Given the description of an element on the screen output the (x, y) to click on. 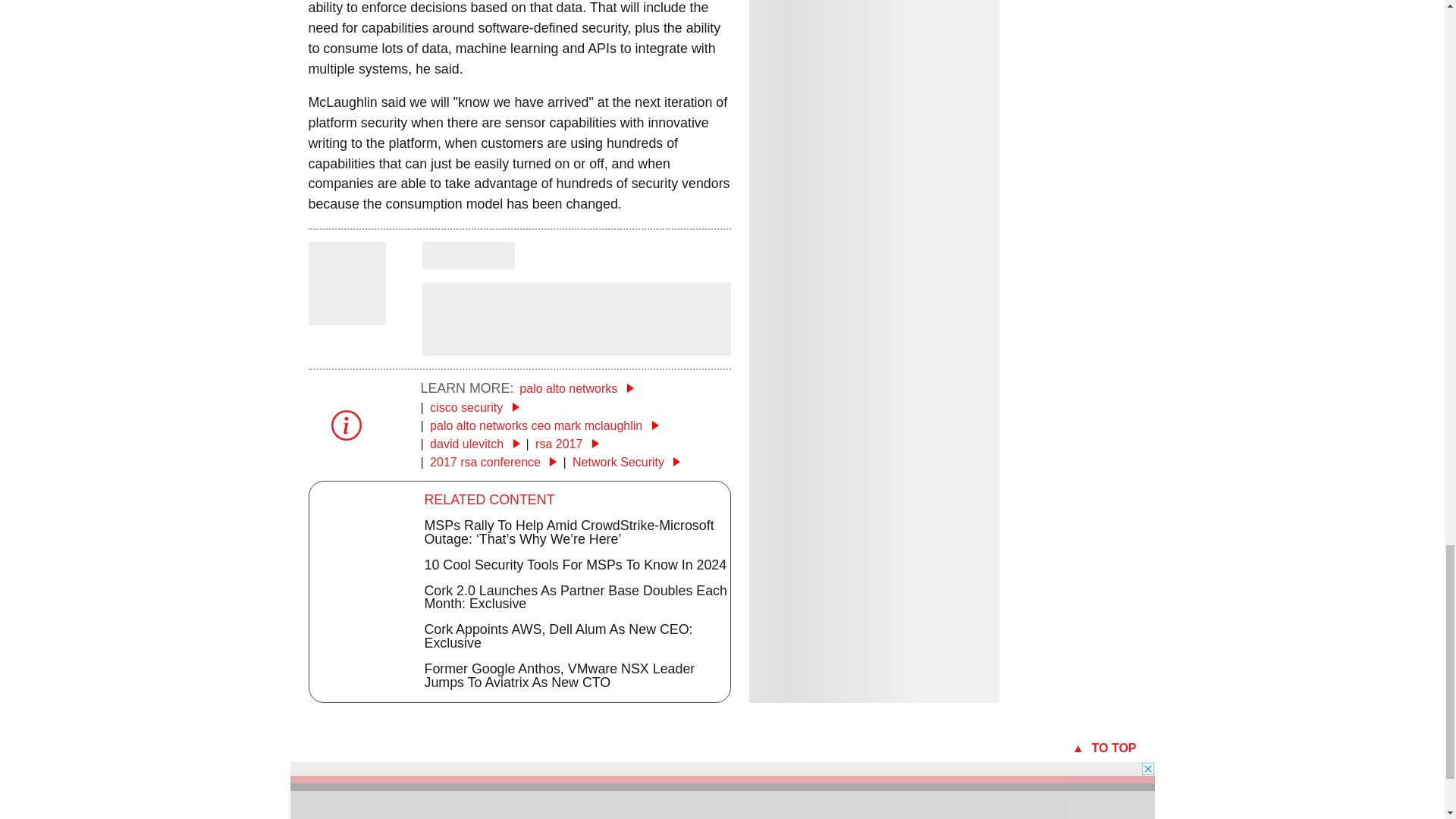
Cork Appoints AWS, Dell Alum As New CEO: Exclusive (559, 635)
Cork Appoints AWS, Dell Alum As New CEO: Exclusive (559, 635)
10 Cool Security Tools For MSPs To Know In 2024 (575, 564)
2017 rsa conference (492, 461)
10 Cool Security Tools For MSPs To Know In 2024 (575, 564)
palo alto networks ceo mark mclaughlin (544, 425)
Network Security (625, 461)
david ulevitch (474, 443)
david ulevitch (474, 443)
Author Name (467, 255)
AUTHOR NAME (467, 255)
